Given the description of an element on the screen output the (x, y) to click on. 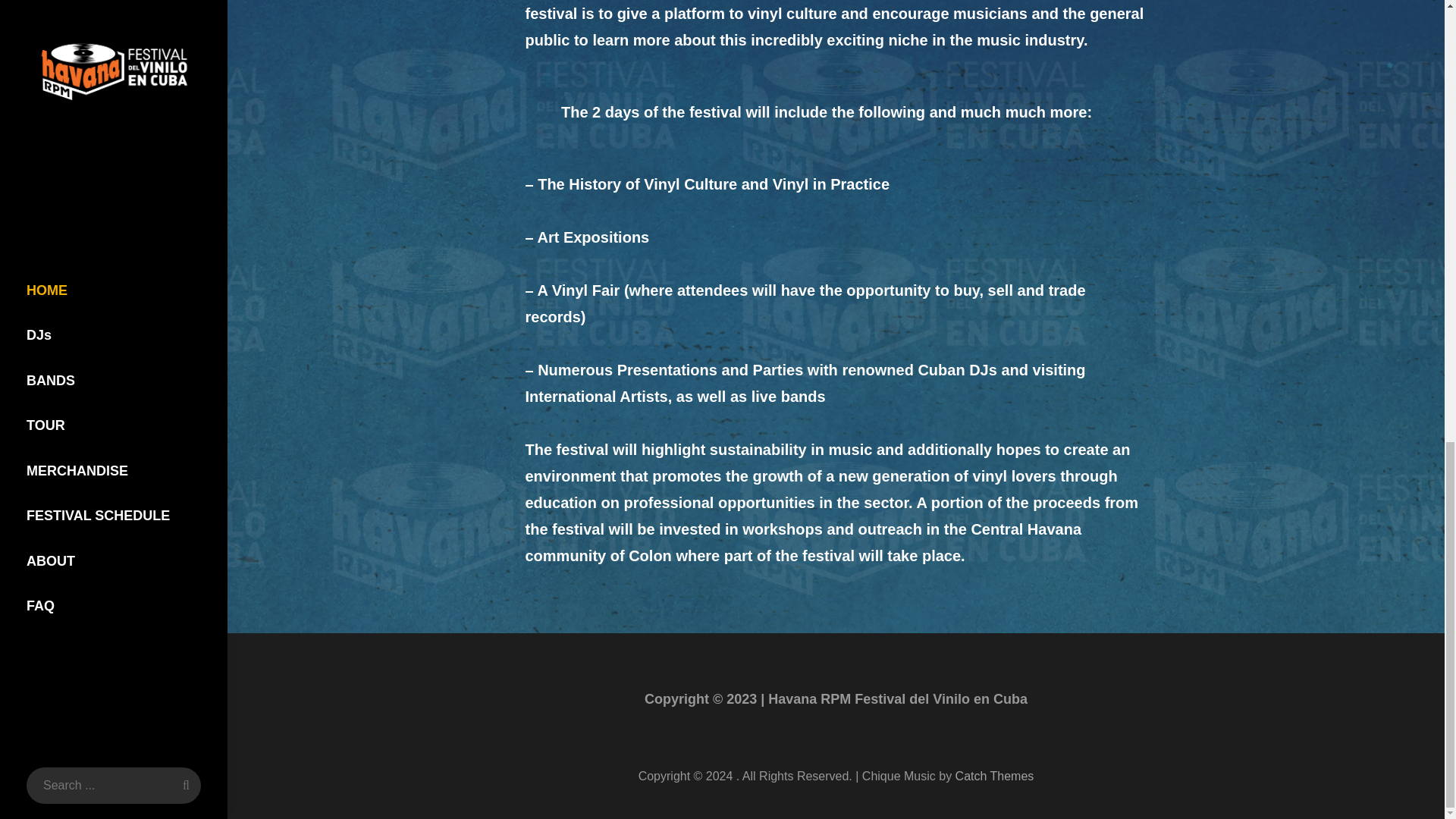
Catch Themes (994, 775)
